Given the description of an element on the screen output the (x, y) to click on. 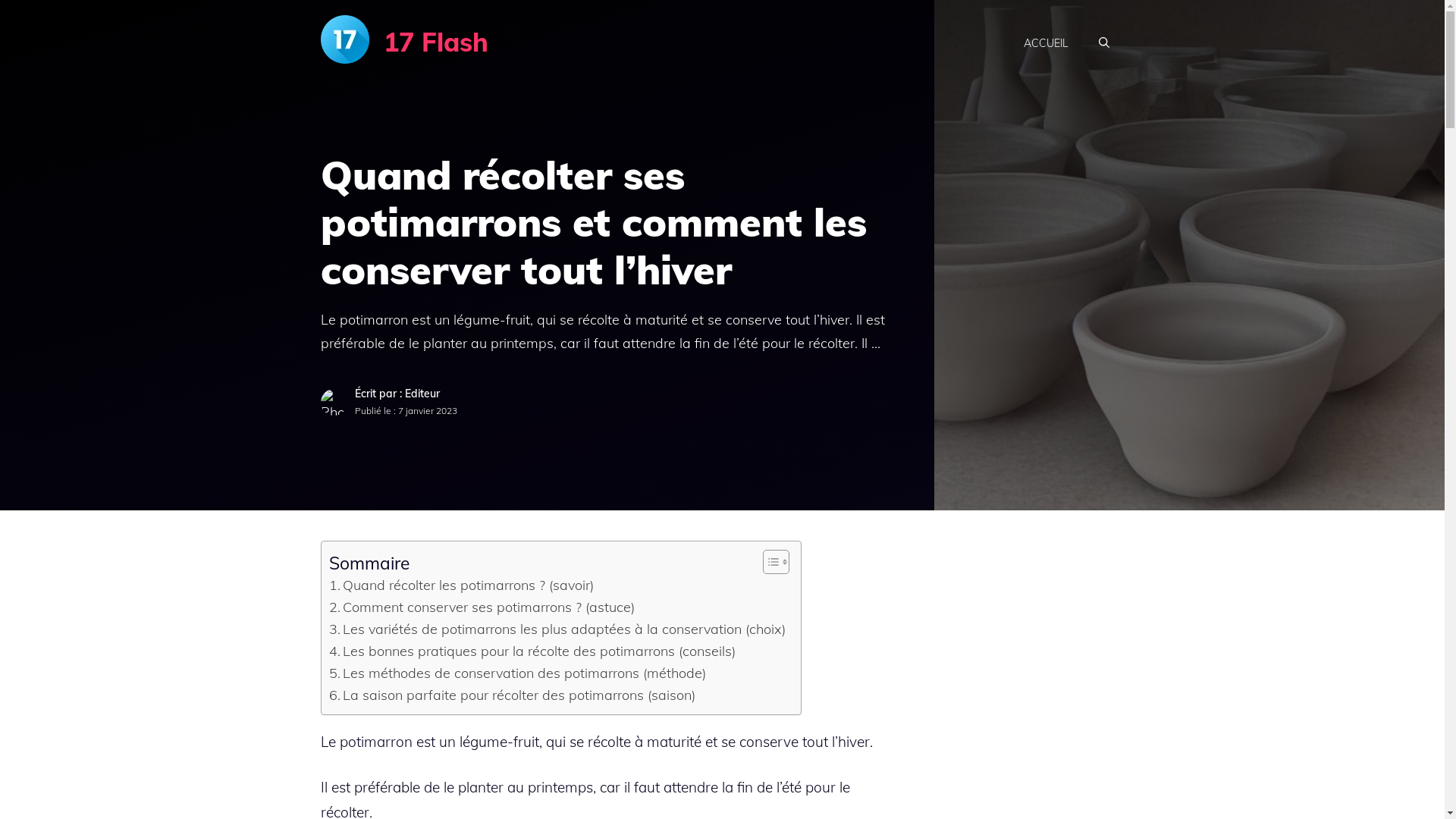
ACCUEIL Element type: text (1045, 42)
Comment conserver ses potimarrons ? (astuce) Element type: text (482, 607)
17 Flash Element type: text (435, 41)
